Given the description of an element on the screen output the (x, y) to click on. 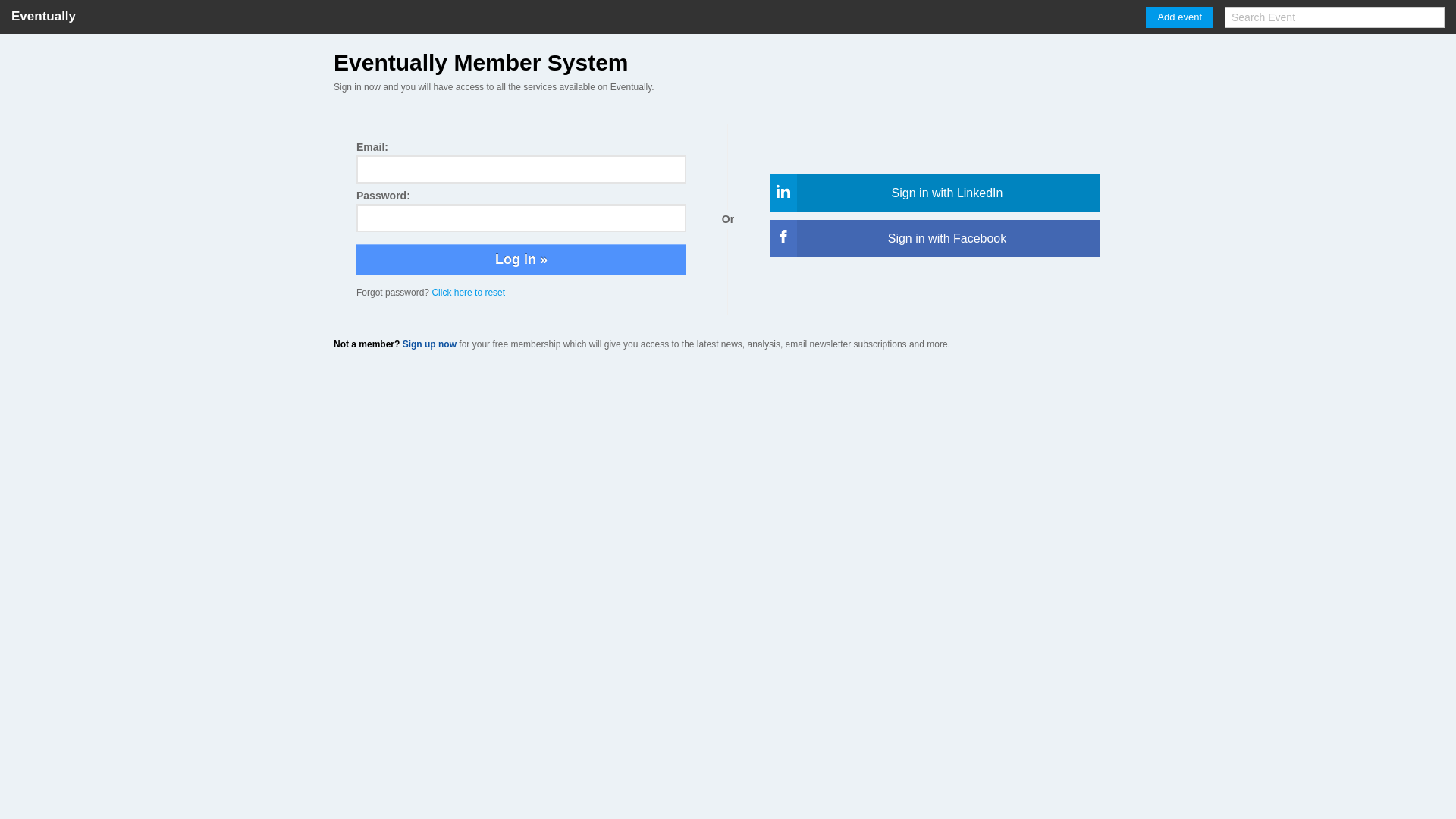
Sign up now Element type: text (429, 343)
Eventually Element type: text (43, 16)
Click here to reset Element type: text (468, 292)
Add event Element type: text (1179, 16)
Sign in with Facebook Element type: text (934, 238)
Sign in with LinkedIn Element type: text (934, 193)
